Given the description of an element on the screen output the (x, y) to click on. 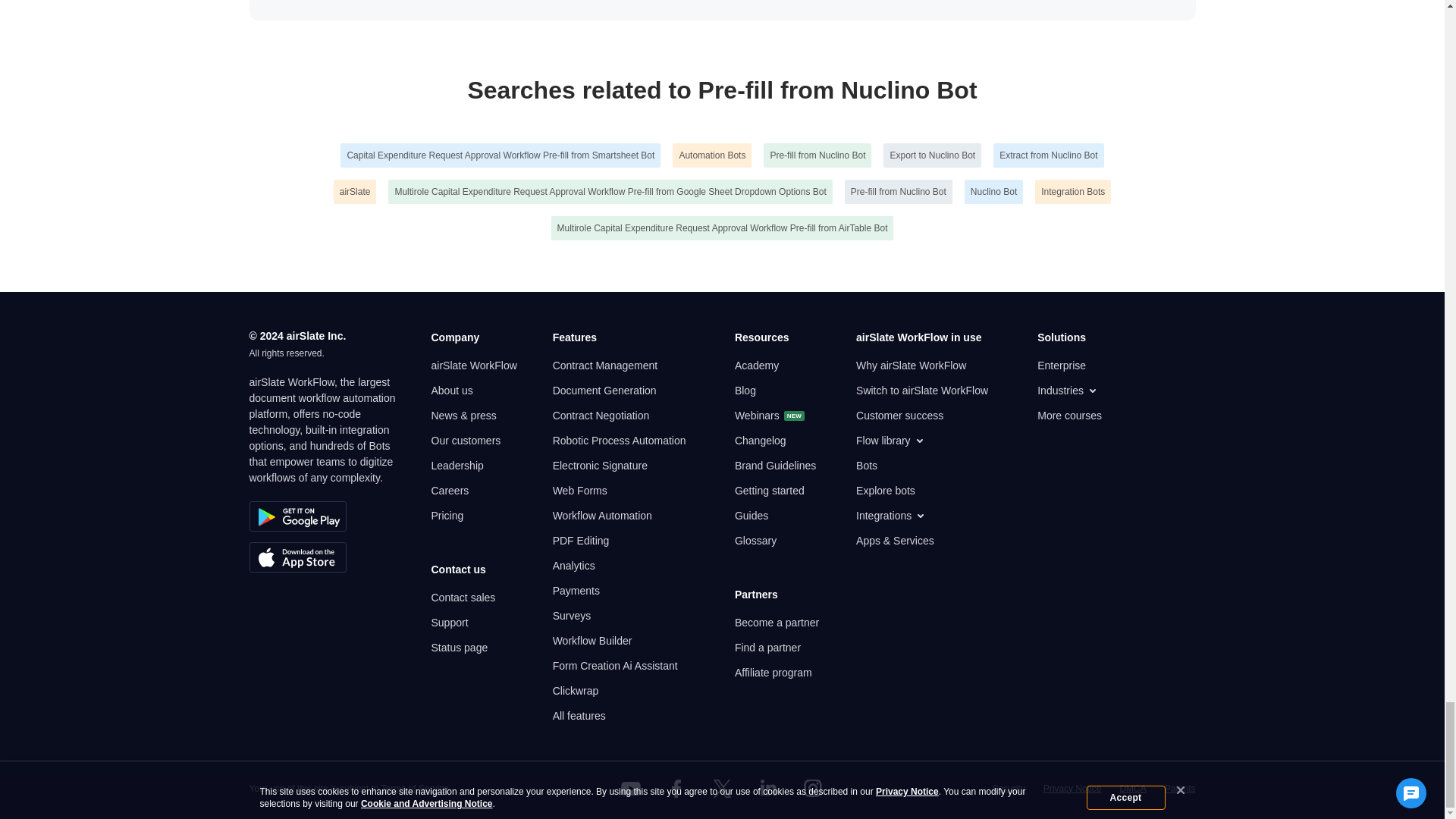
LinkedIn (767, 788)
Facebook (676, 788)
Twitter (721, 788)
Instagram (812, 788)
YouTube (630, 788)
